Given the description of an element on the screen output the (x, y) to click on. 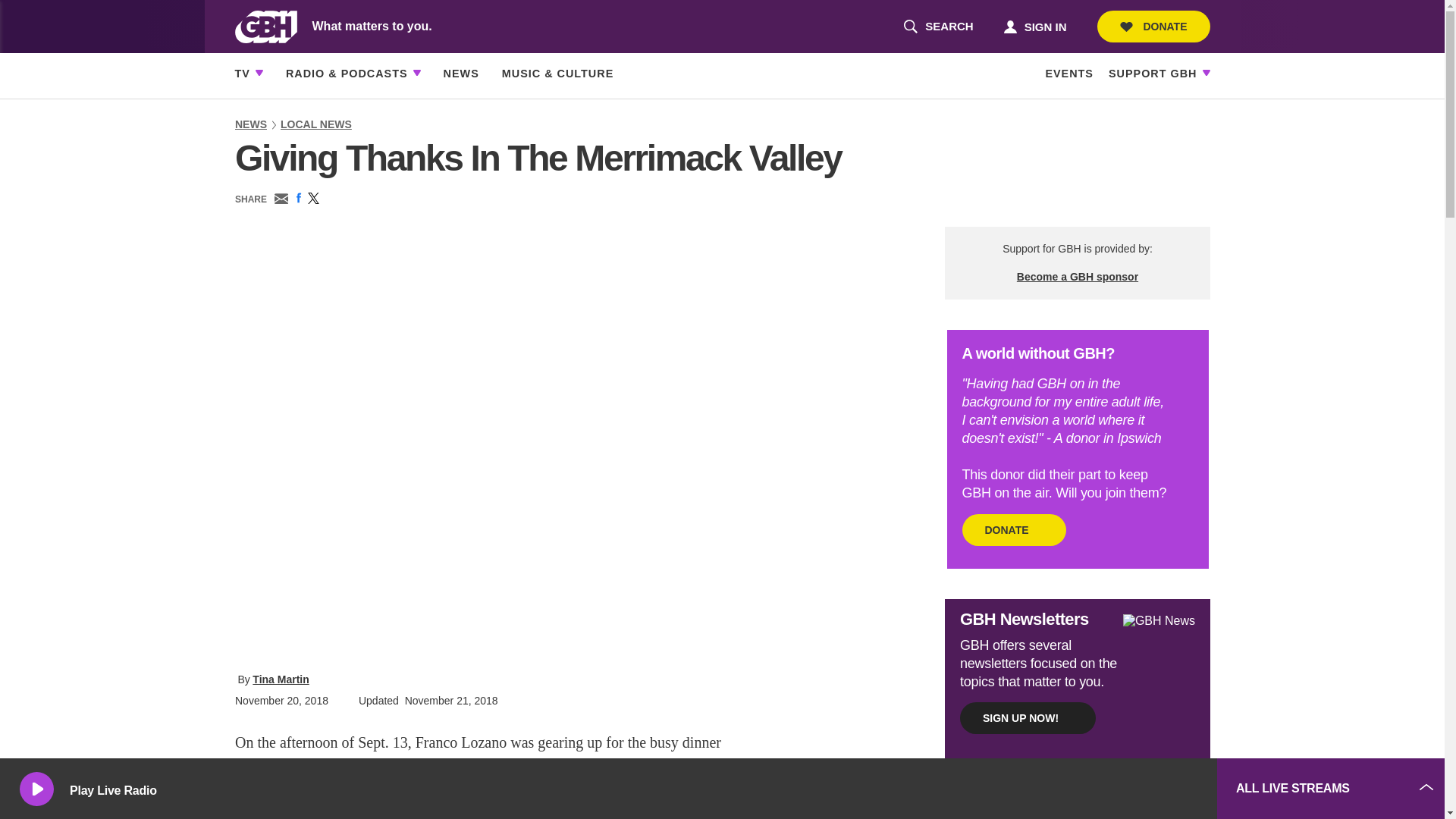
SIGN IN (937, 26)
Show Search (1034, 25)
TV (1153, 26)
YouTube embedded video player (242, 73)
